Given the description of an element on the screen output the (x, y) to click on. 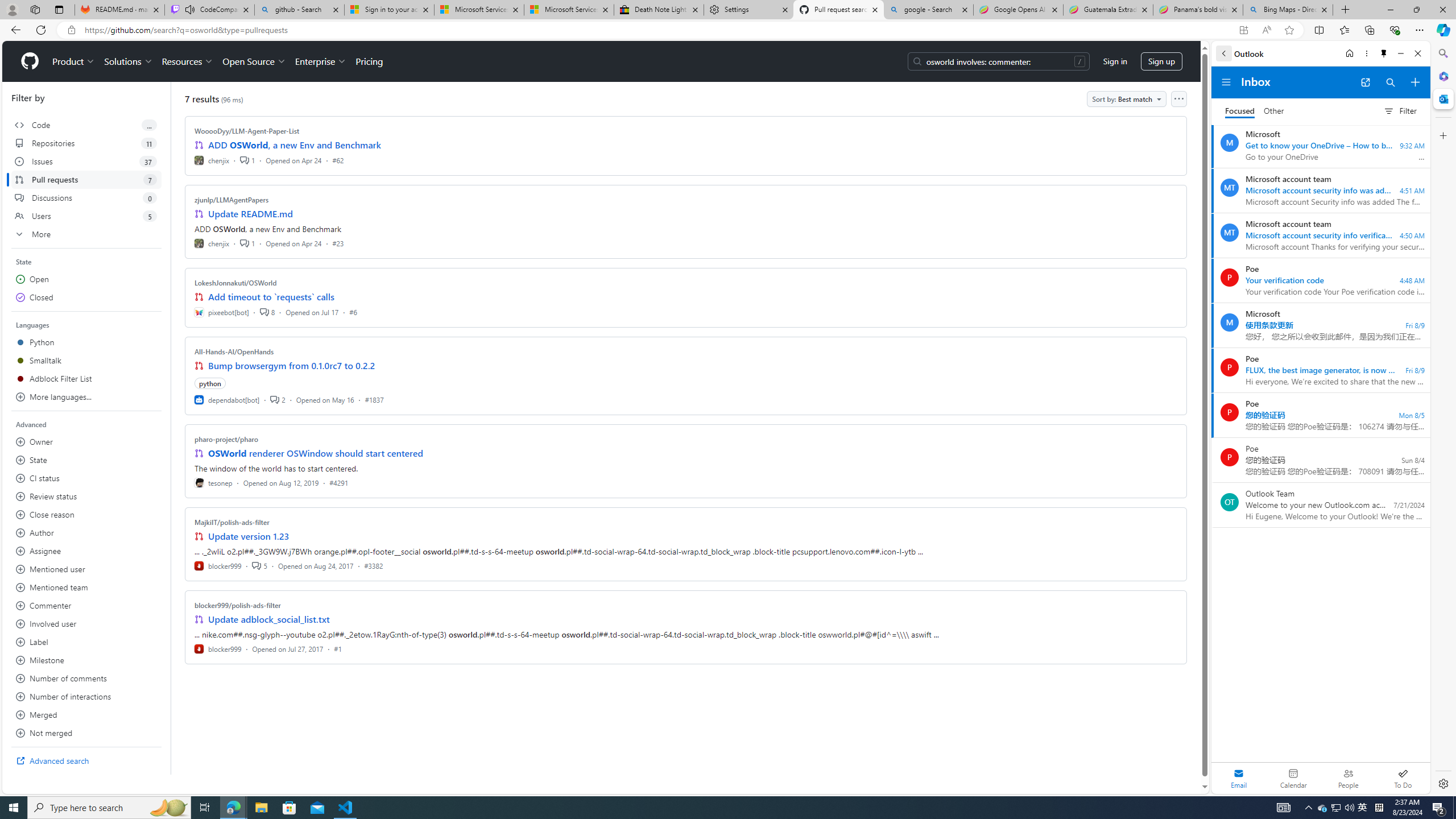
Open Source (254, 60)
#3382 (373, 565)
Microsoft Services Agreement (568, 9)
Product (74, 60)
